Given the description of an element on the screen output the (x, y) to click on. 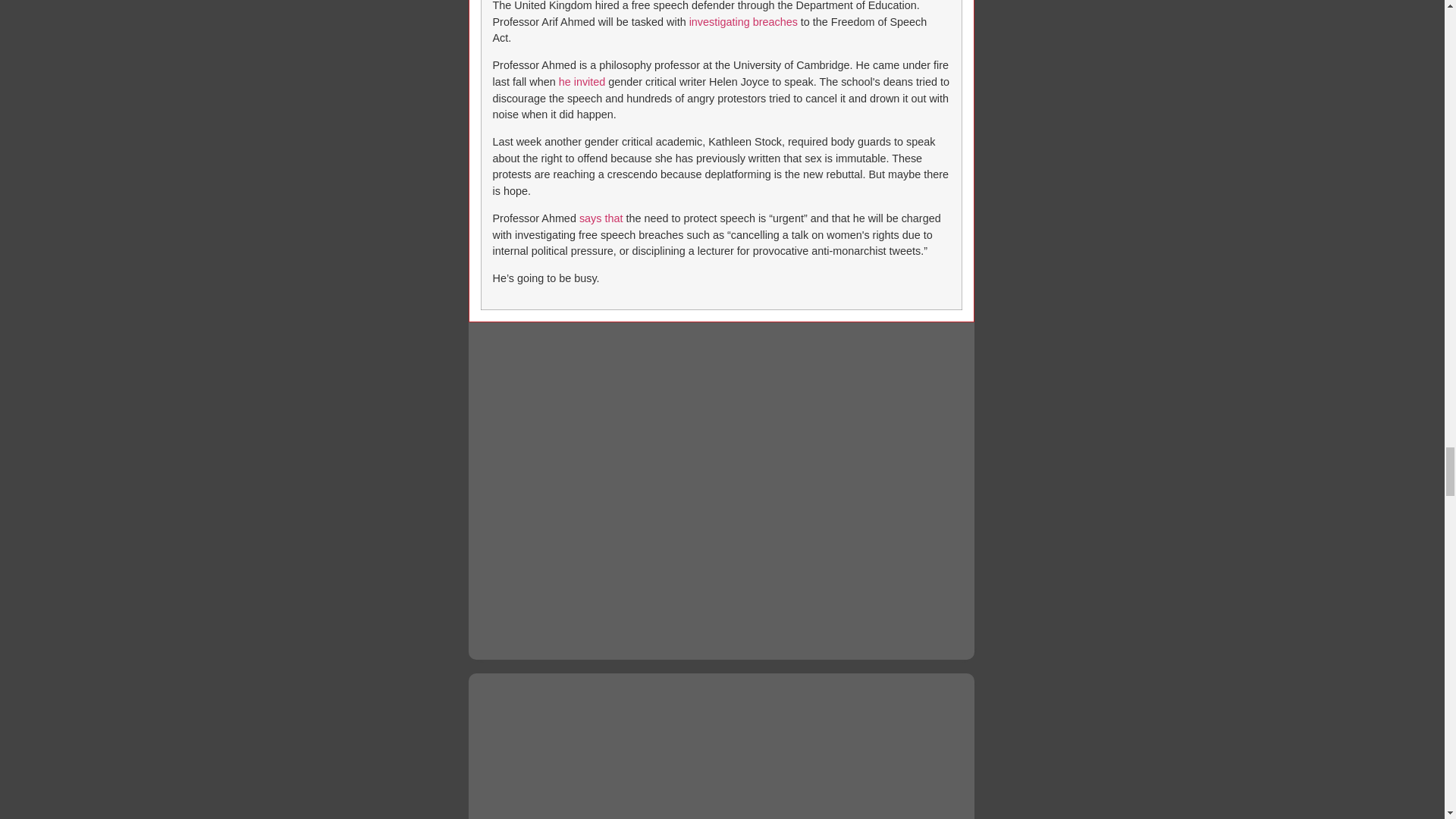
he invited (582, 81)
says that (601, 218)
investigating breaches (742, 21)
